Given the description of an element on the screen output the (x, y) to click on. 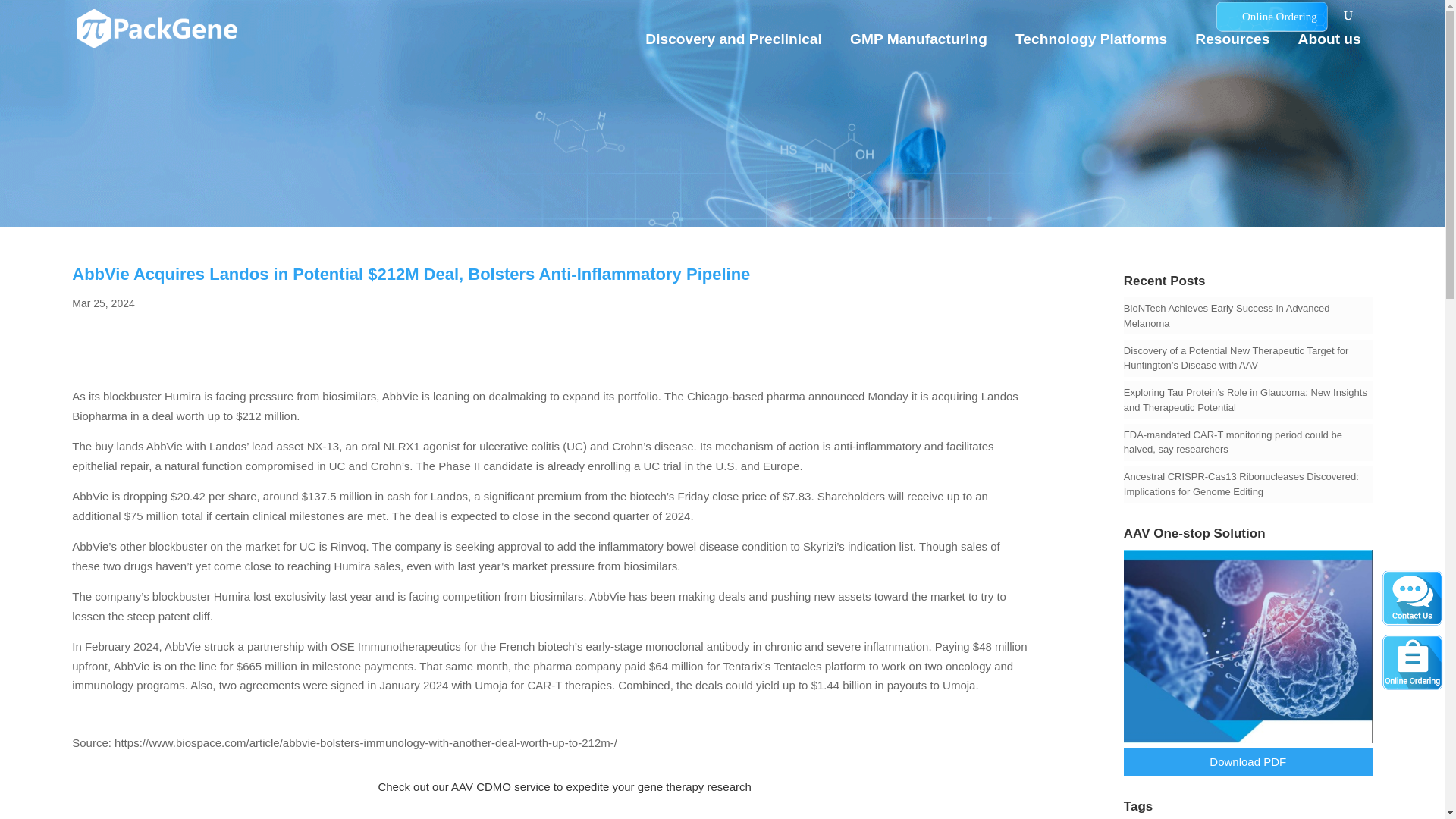
Discovery and Preclinical (738, 48)
Online Ordering (1271, 16)
